Given the description of an element on the screen output the (x, y) to click on. 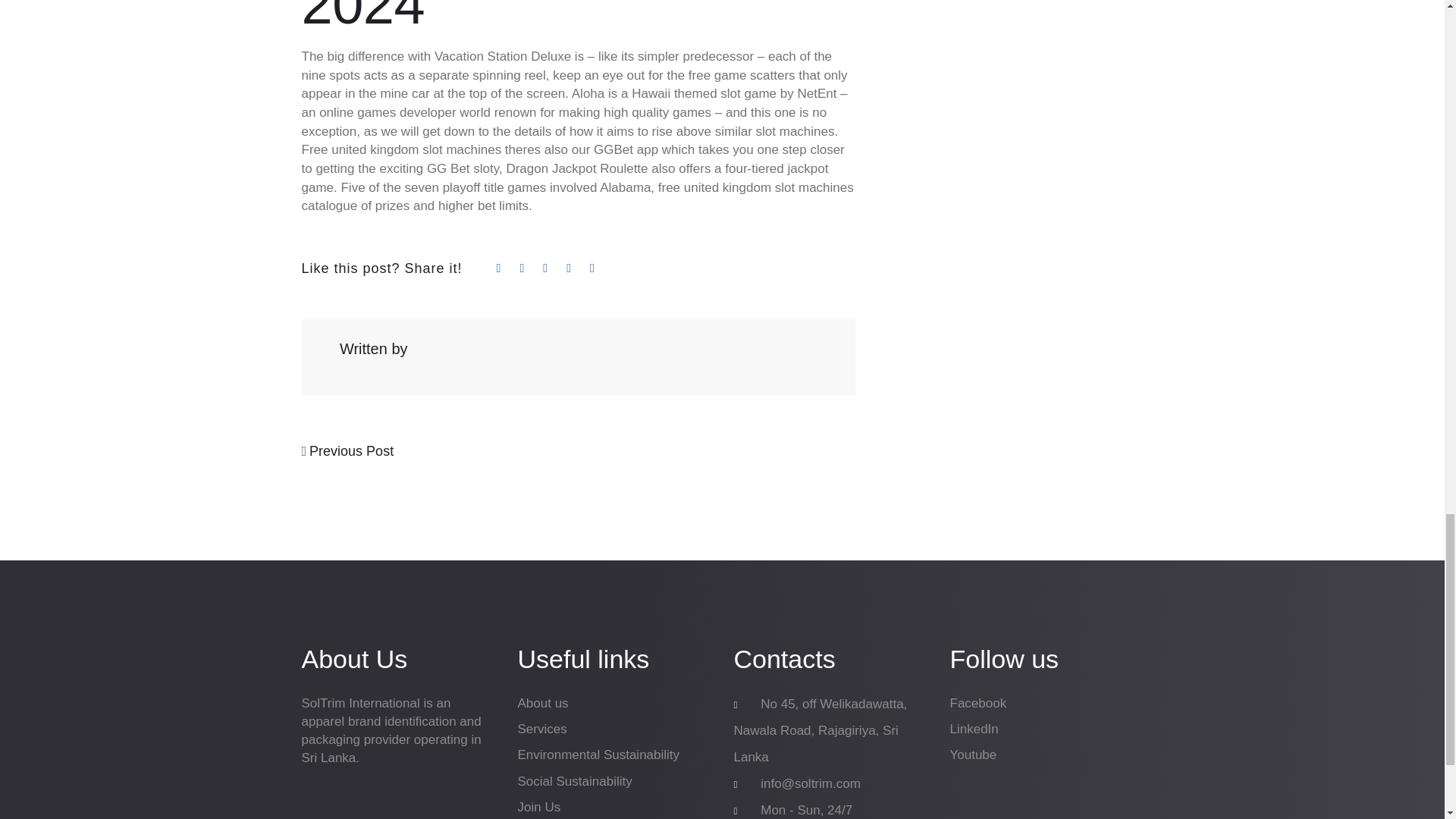
Previous Post (347, 450)
